Given the description of an element on the screen output the (x, y) to click on. 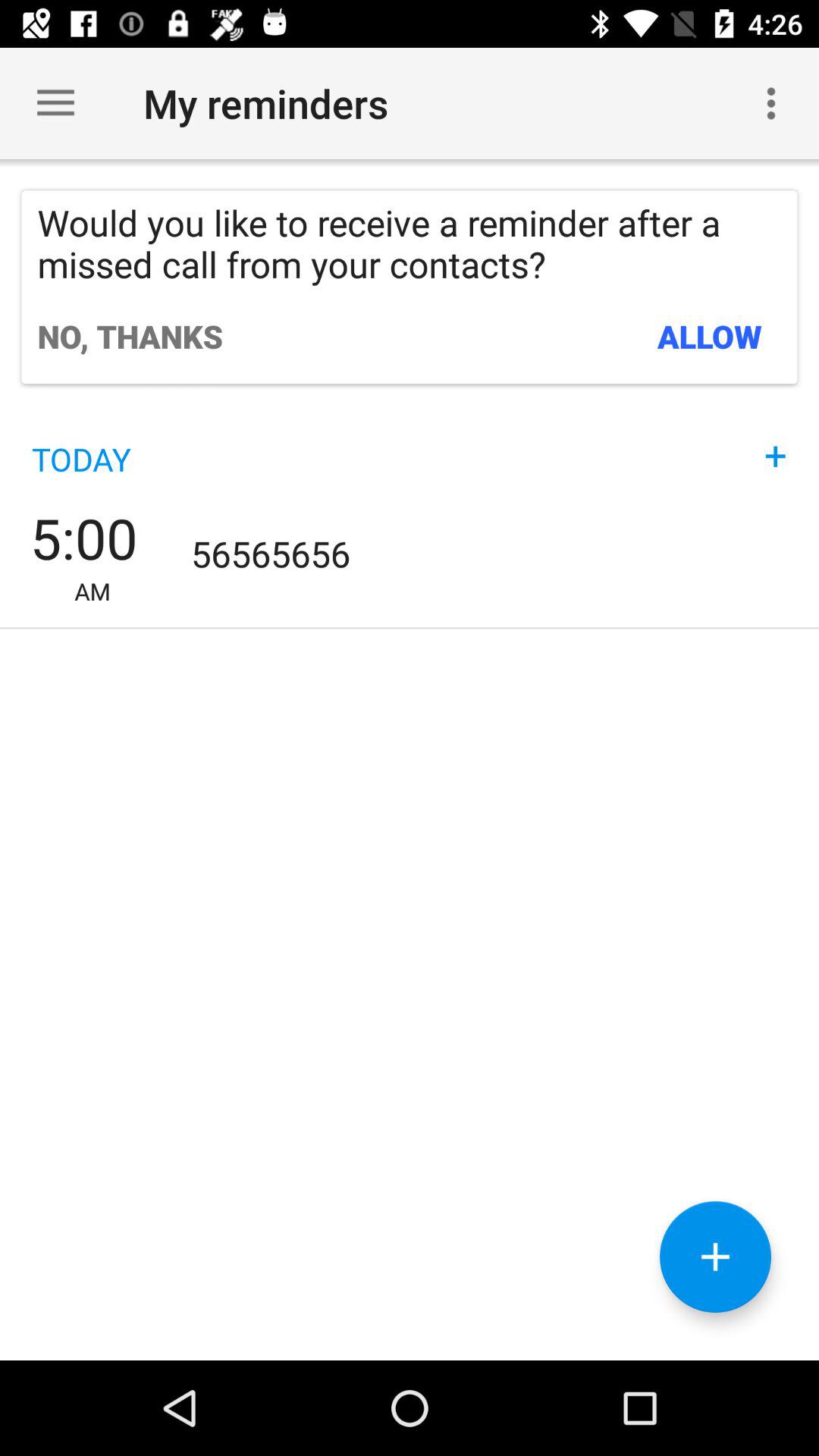
add new reminder (715, 1256)
